Given the description of an element on the screen output the (x, y) to click on. 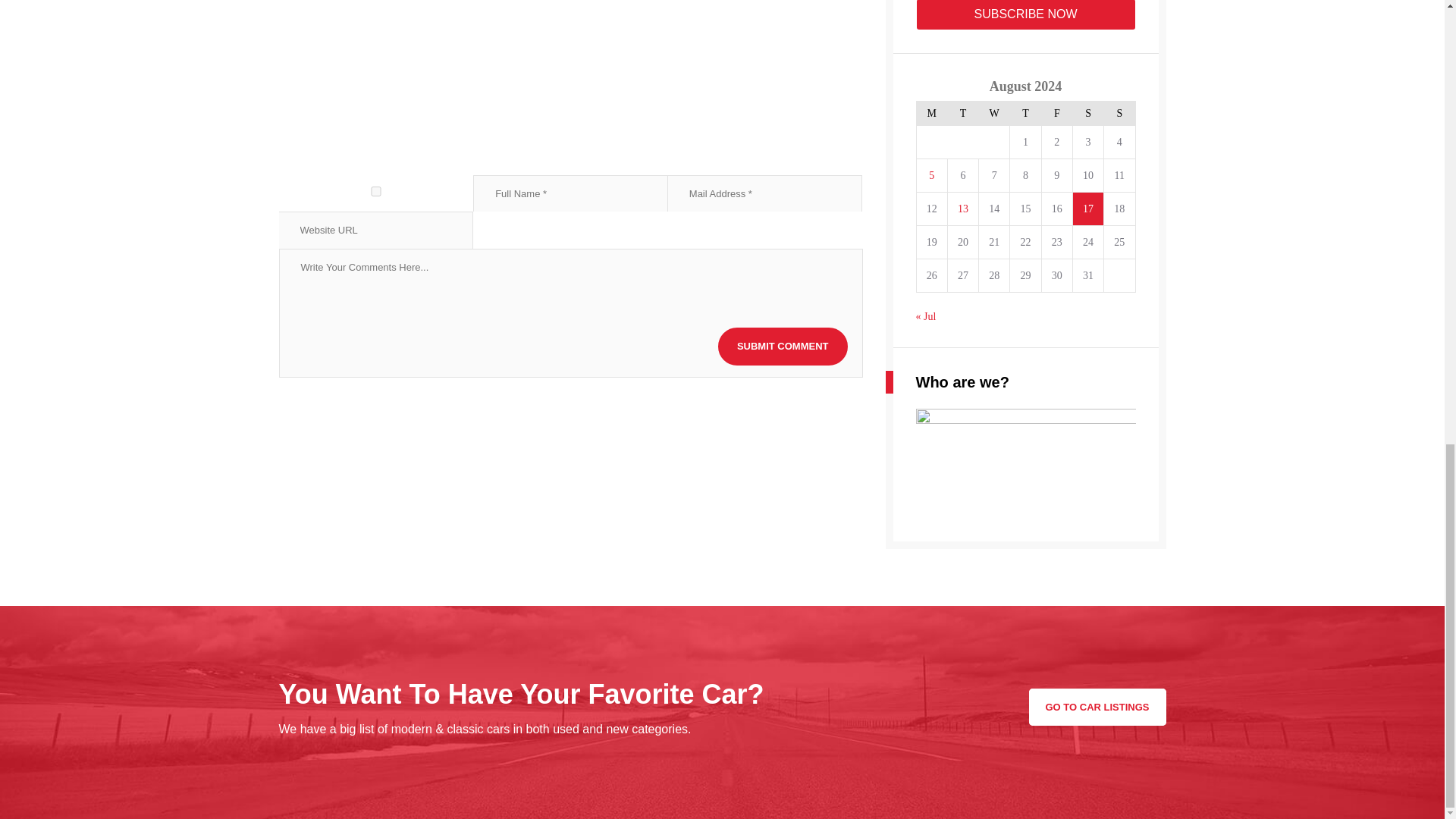
Tuesday (962, 112)
Thursday (1025, 112)
Monday (931, 112)
Sunday (1119, 112)
Saturday (1087, 112)
SUBSCRIBE NOW (1025, 15)
Friday (1056, 112)
Submit Comment (782, 346)
GO TO CAR LISTINGS (1096, 705)
13 (963, 208)
